Given the description of an element on the screen output the (x, y) to click on. 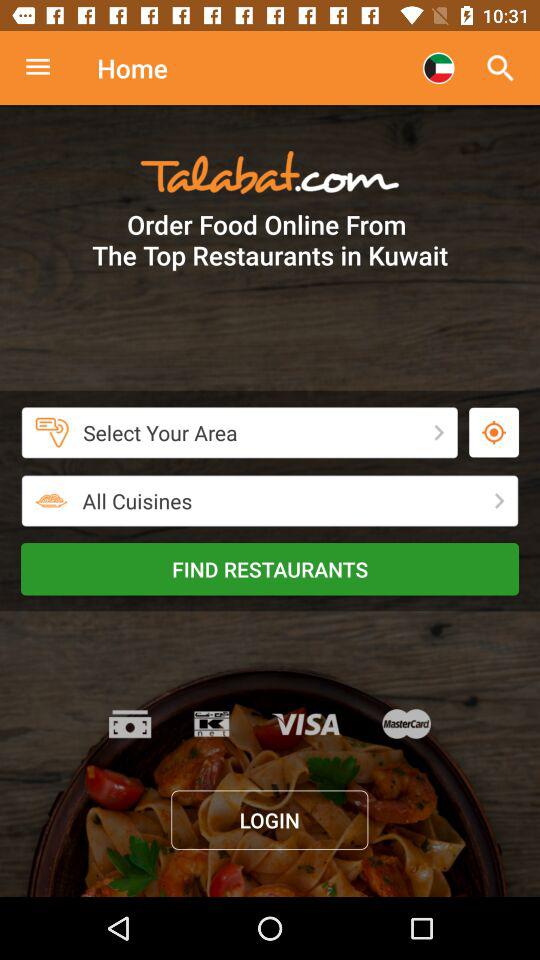
go to search option (48, 67)
